Given the description of an element on the screen output the (x, y) to click on. 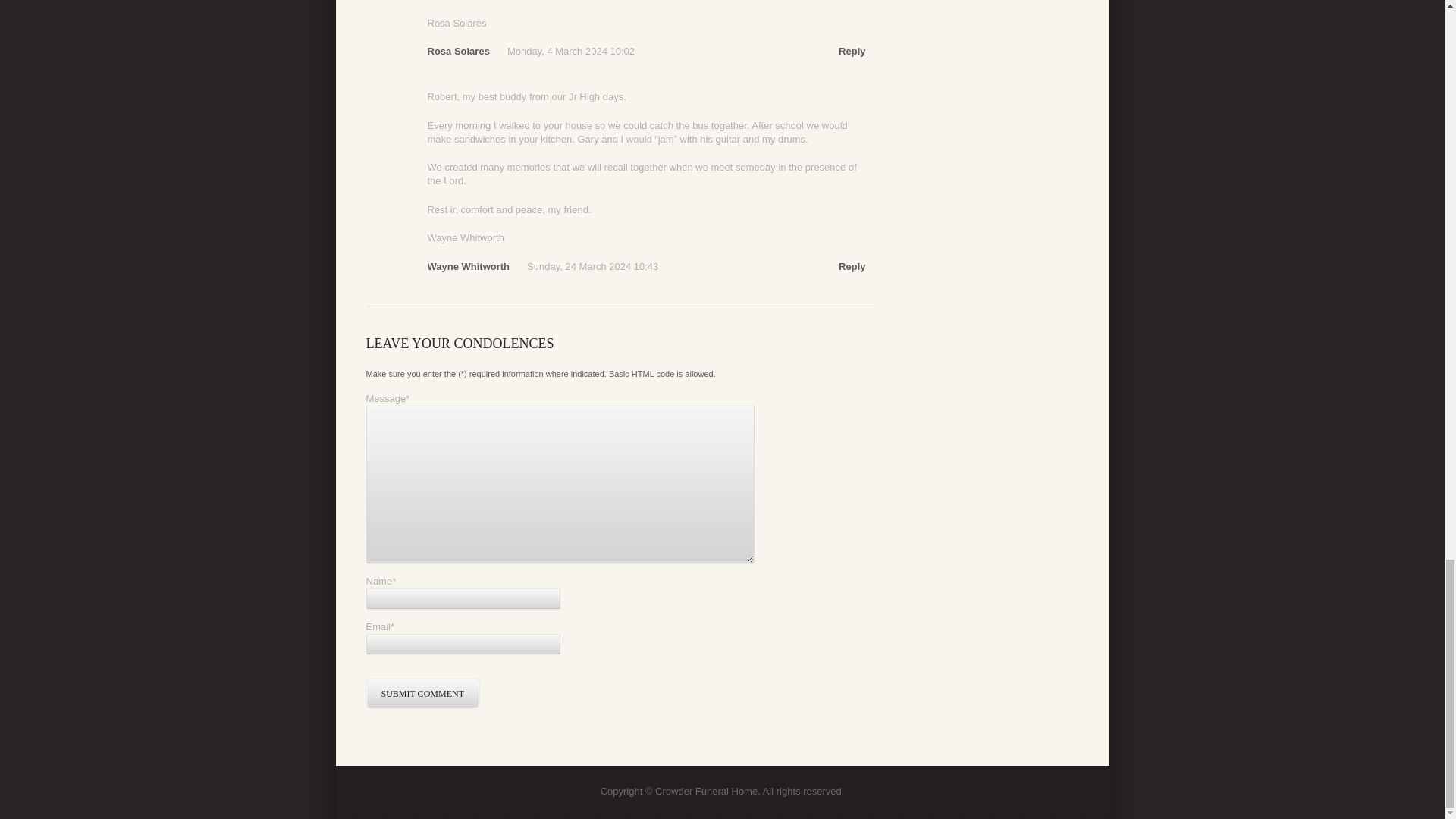
Submit Comment (422, 693)
Reply (851, 51)
Reply (851, 266)
Submit Comment (422, 693)
